Given the description of an element on the screen output the (x, y) to click on. 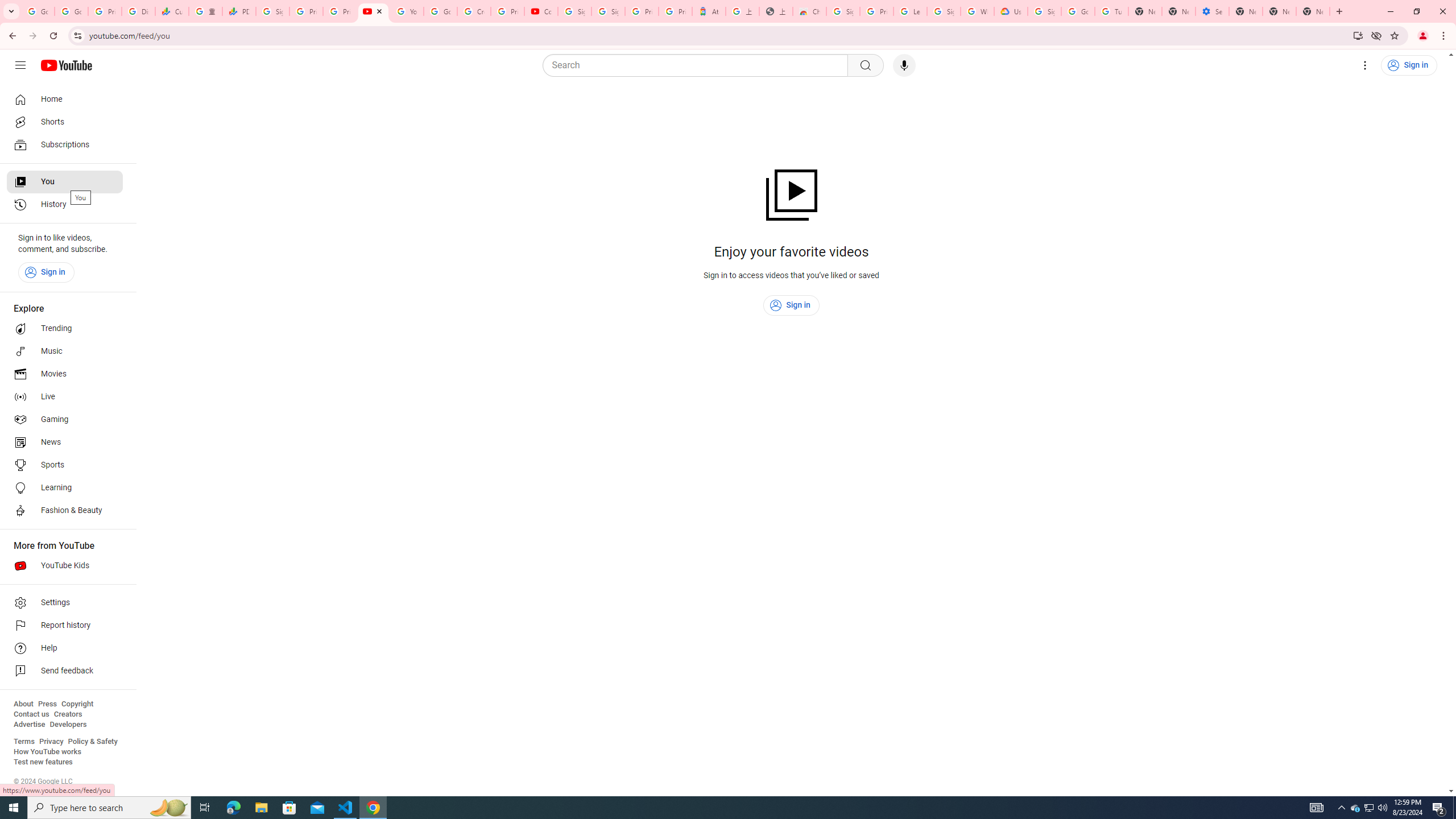
Content Creator Programs & Opportunities - YouTube Creators (541, 11)
Google Account Help (1077, 11)
Movies (64, 373)
Policy & Safety (91, 741)
Install YouTube (1358, 35)
New Tab (1246, 11)
